Given the description of an element on the screen output the (x, y) to click on. 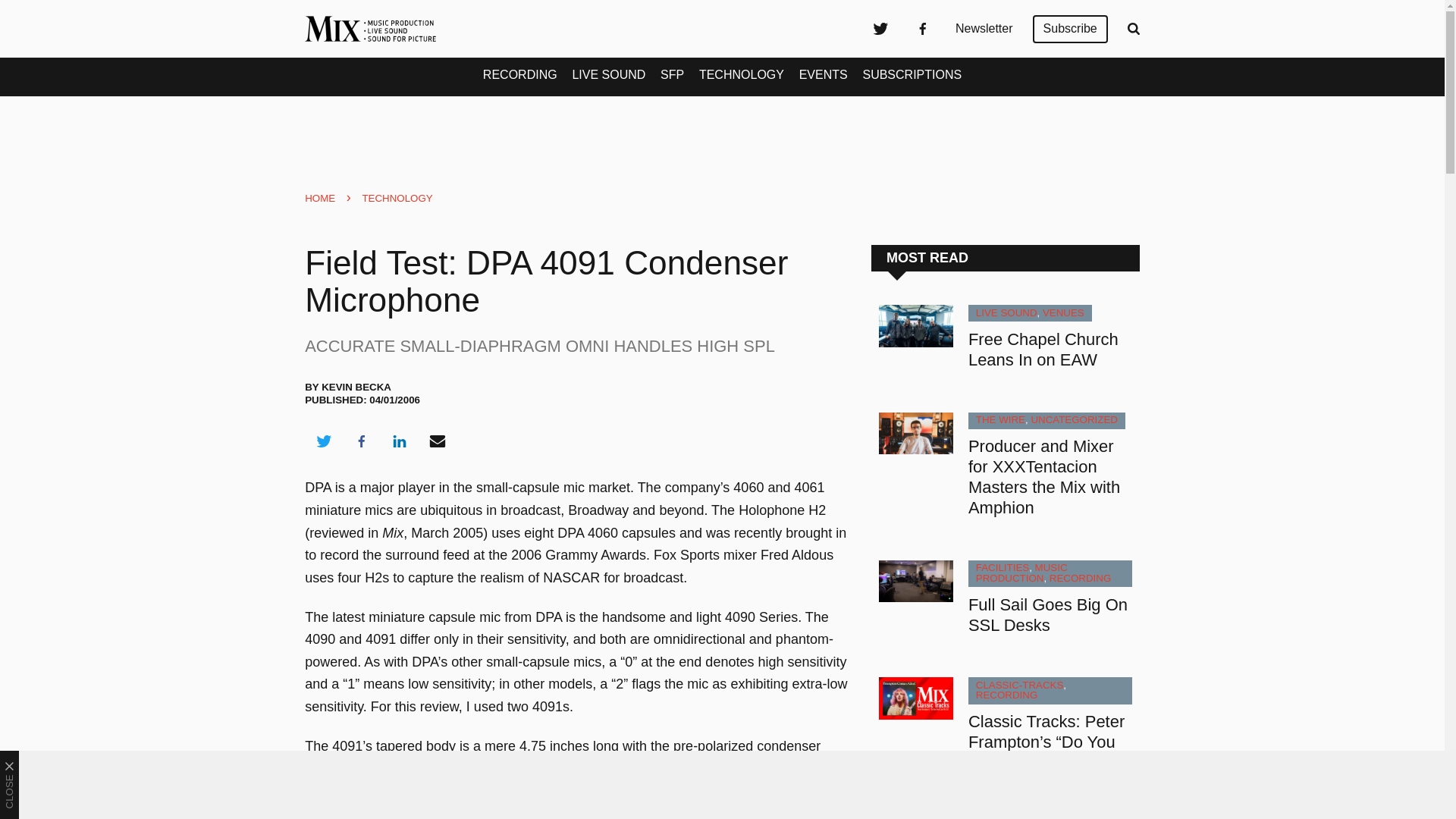
Share via Email (438, 441)
Share on Facebook (361, 441)
Share on LinkedIn (399, 441)
Share on Twitter (323, 441)
